Given the description of an element on the screen output the (x, y) to click on. 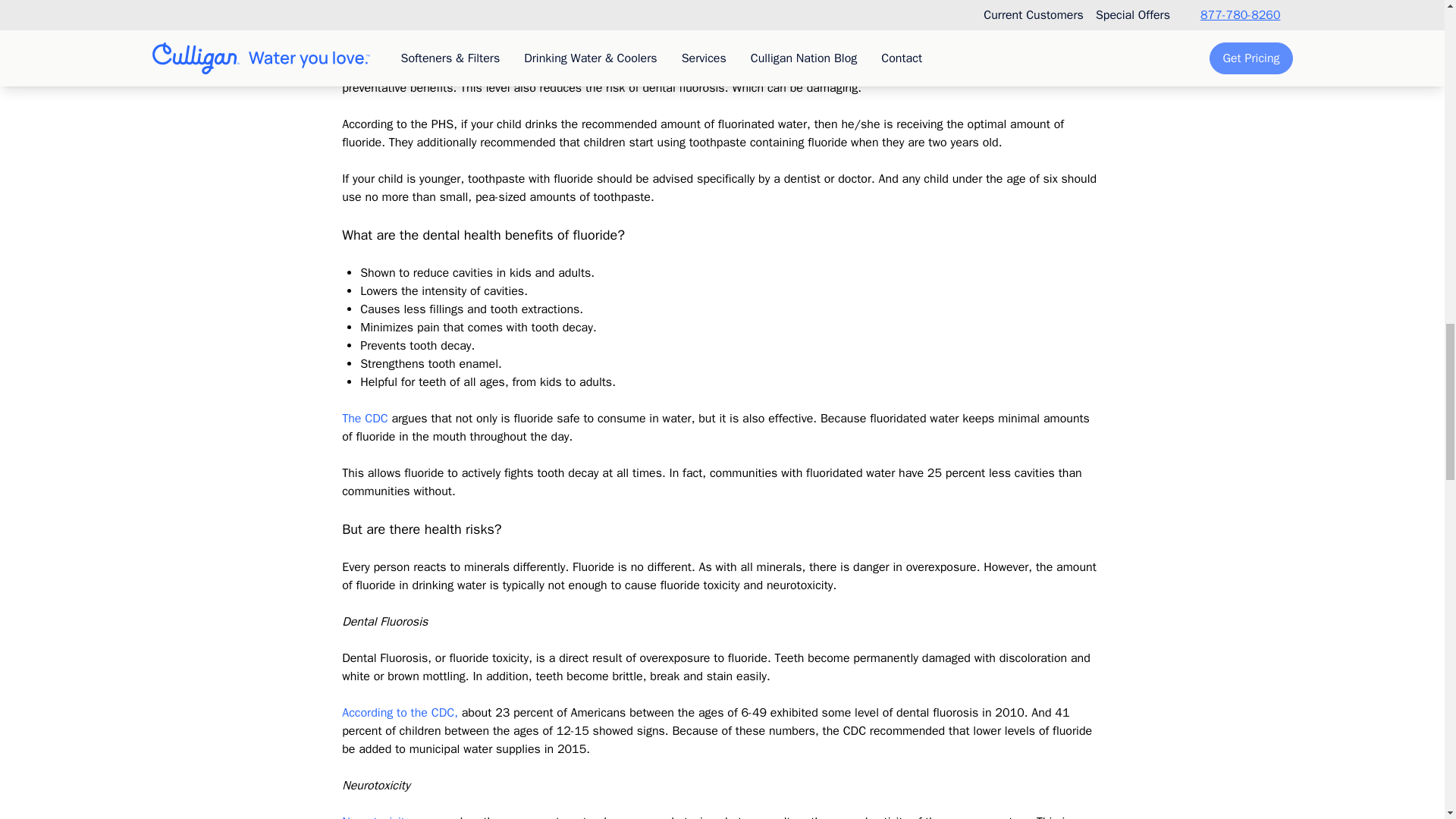
recommends (600, 69)
The CDC (364, 418)
